Given the description of an element on the screen output the (x, y) to click on. 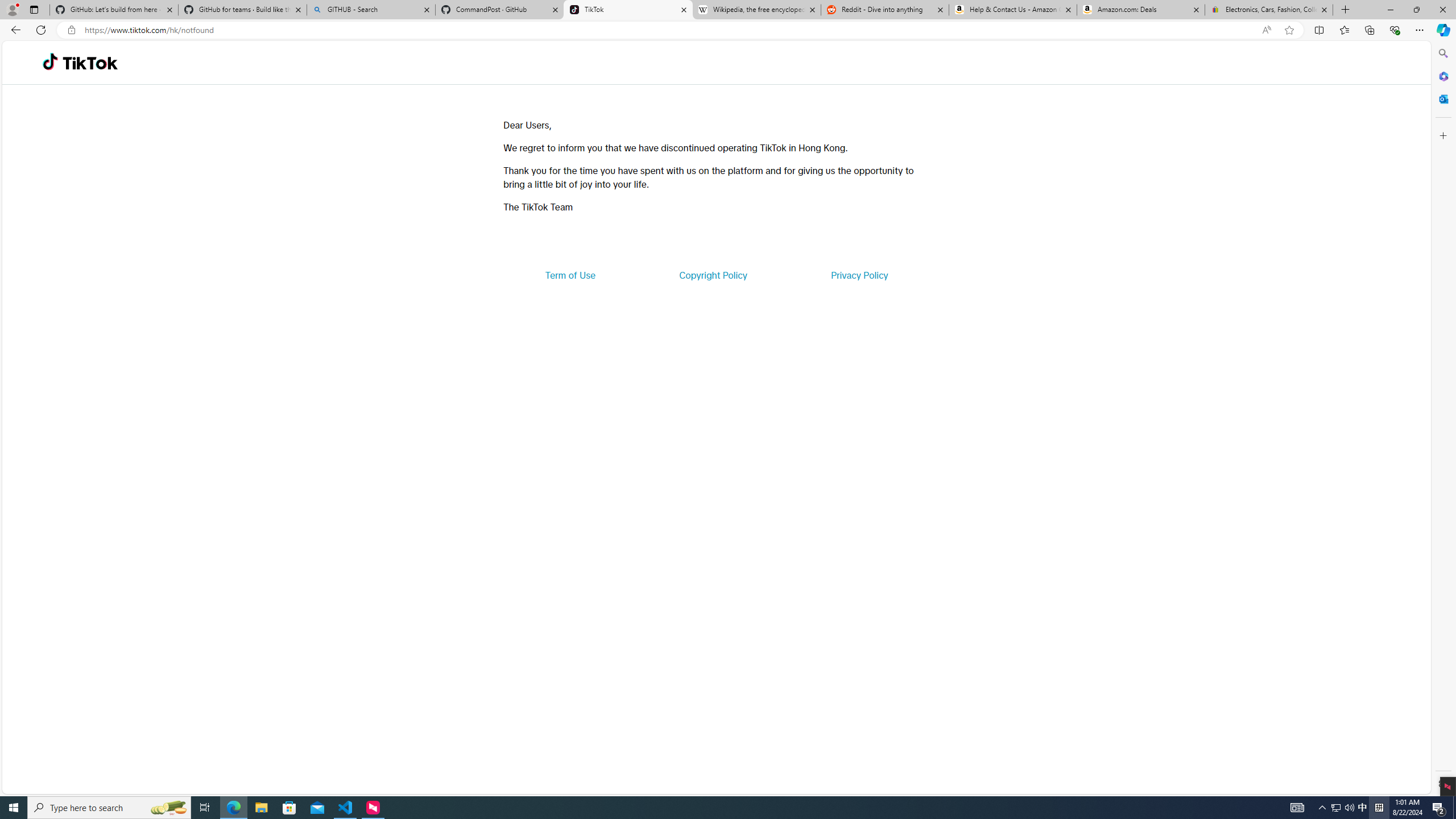
Wikipedia, the free encyclopedia (756, 9)
GITHUB - Search (370, 9)
Privacy Policy (858, 274)
Amazon.com: Deals (1140, 9)
Copyright Policy (712, 274)
TikTok (628, 9)
